Given the description of an element on the screen output the (x, y) to click on. 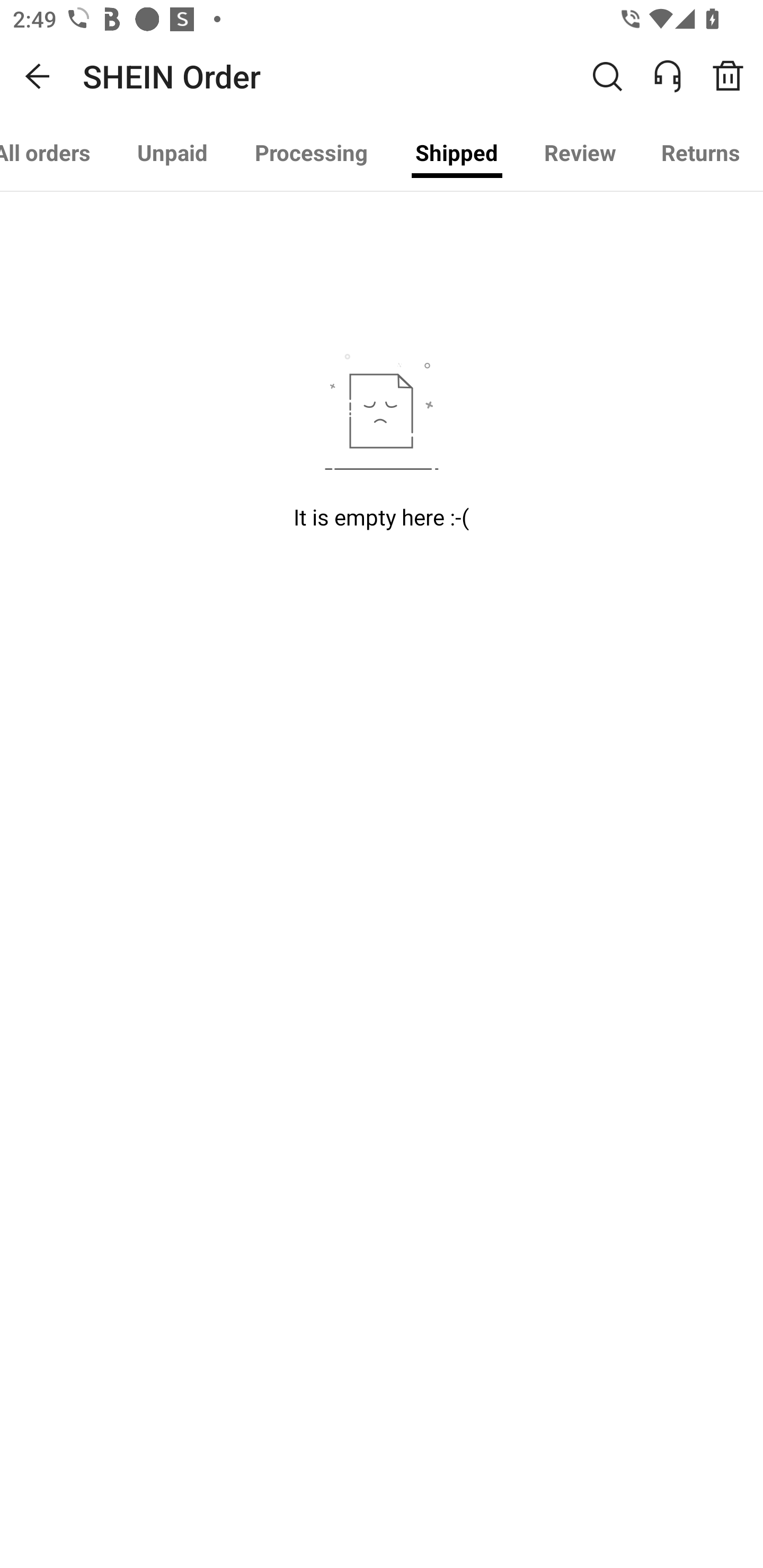
Navigate up (38, 75)
Search (607, 75)
ONLINE SERVICE (676, 75)
Order Recycle Bin (734, 75)
All orders (57, 152)
Unpaid (171, 152)
Processing (310, 152)
Shipped (456, 152)
Review (579, 152)
Returns (700, 152)
